Given the description of an element on the screen output the (x, y) to click on. 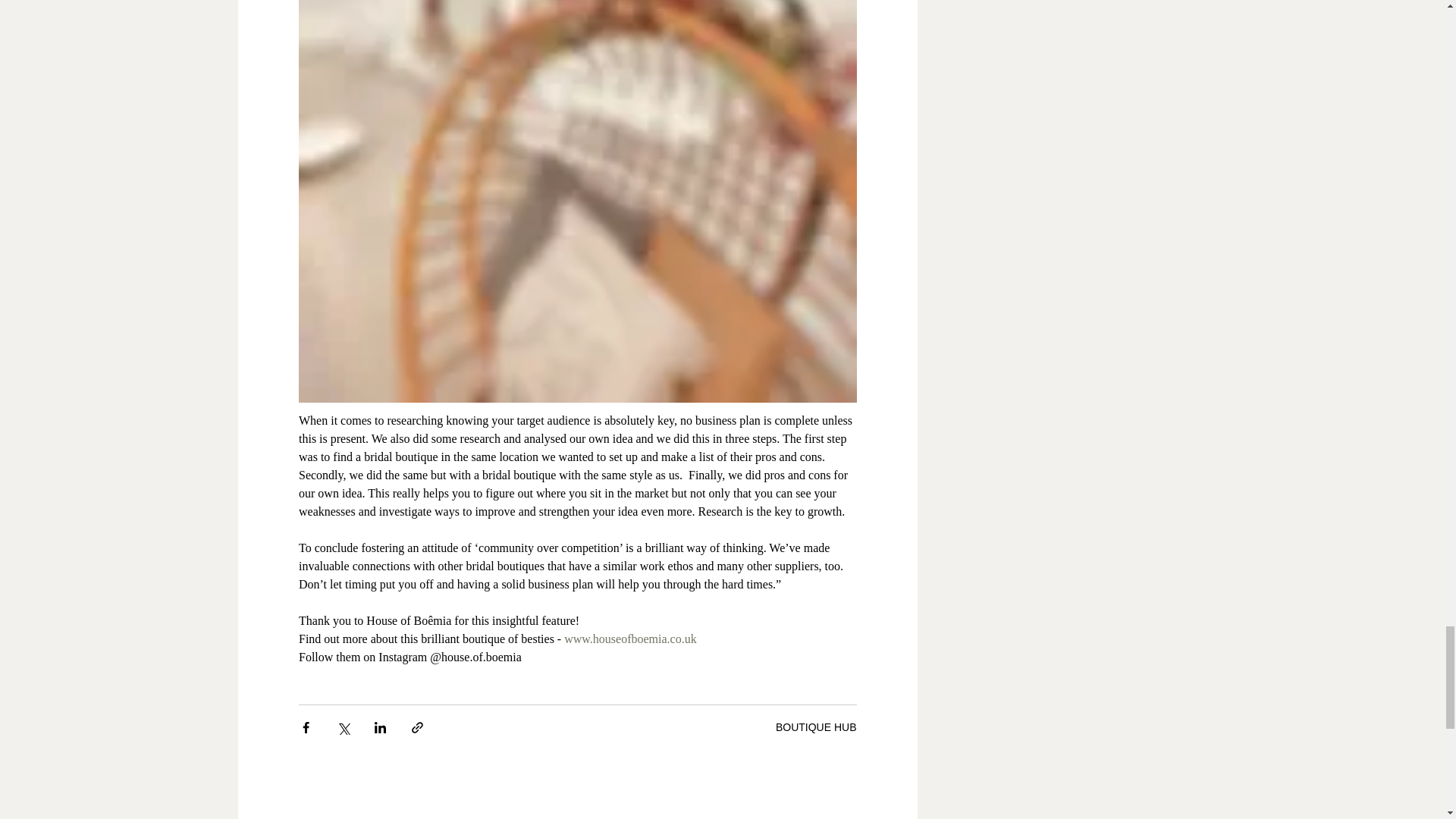
See All (885, 816)
BOUTIQUE HUB (816, 727)
www.houseofboemia.co.uk (629, 638)
